Given the description of an element on the screen output the (x, y) to click on. 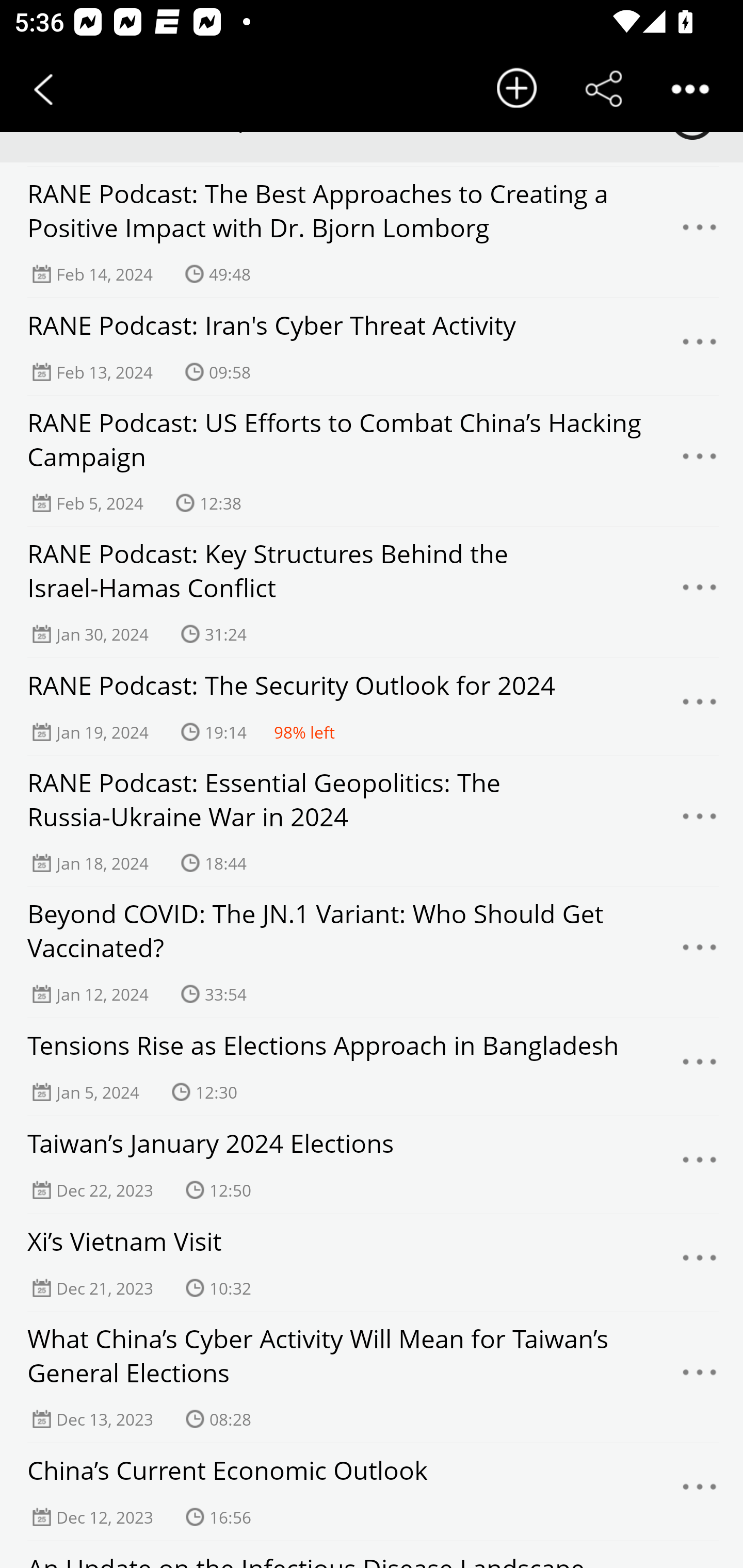
Back (43, 88)
Menu (699, 232)
Menu (699, 347)
Menu (699, 461)
Menu (699, 592)
Menu (699, 707)
Menu (699, 821)
Menu (699, 952)
Menu (699, 1066)
Menu (699, 1164)
Xi’s Vietnam Visit Dec 21, 2023 10:32 Menu (371, 1262)
Menu (699, 1262)
Menu (699, 1377)
Menu (699, 1491)
